Given the description of an element on the screen output the (x, y) to click on. 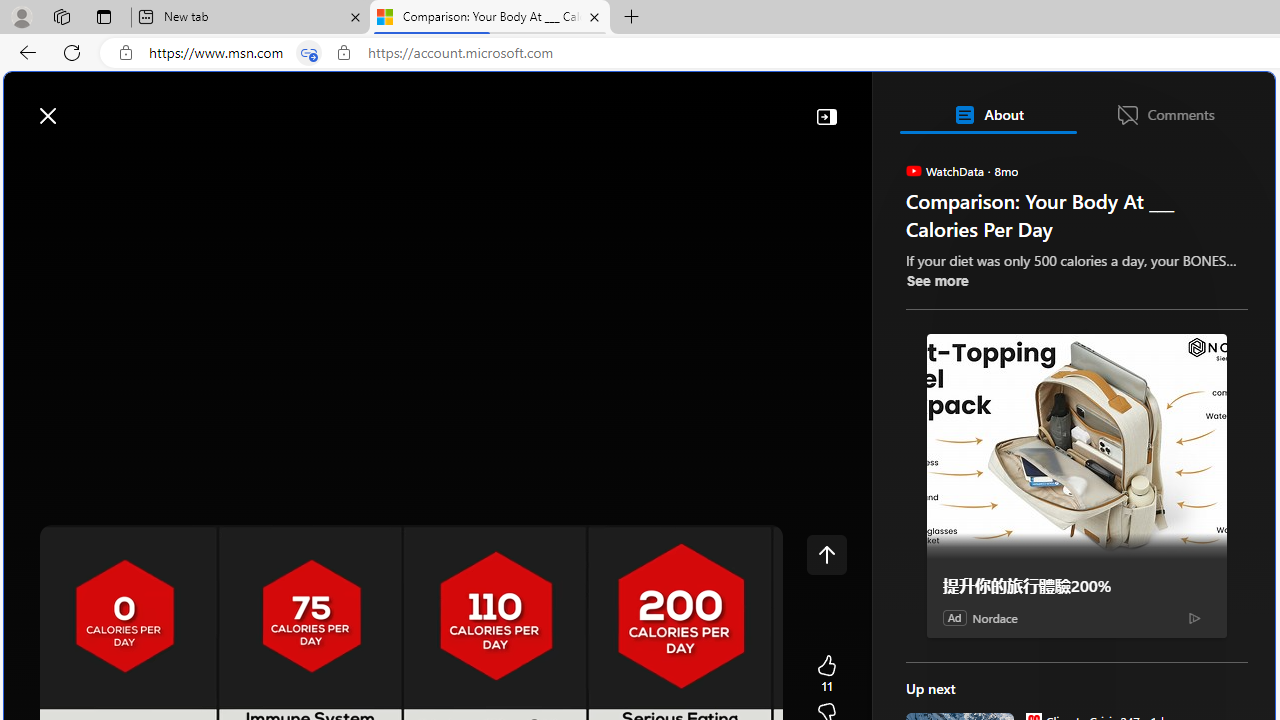
Close tab (594, 16)
See more (936, 280)
Personal Profile (21, 16)
New Tab (632, 17)
Workspaces (61, 16)
Comparison: Your Body At ___ Calories Per Day (490, 17)
Following (172, 162)
Comments (1165, 114)
Watch (249, 162)
Following (173, 162)
